Given the description of an element on the screen output the (x, y) to click on. 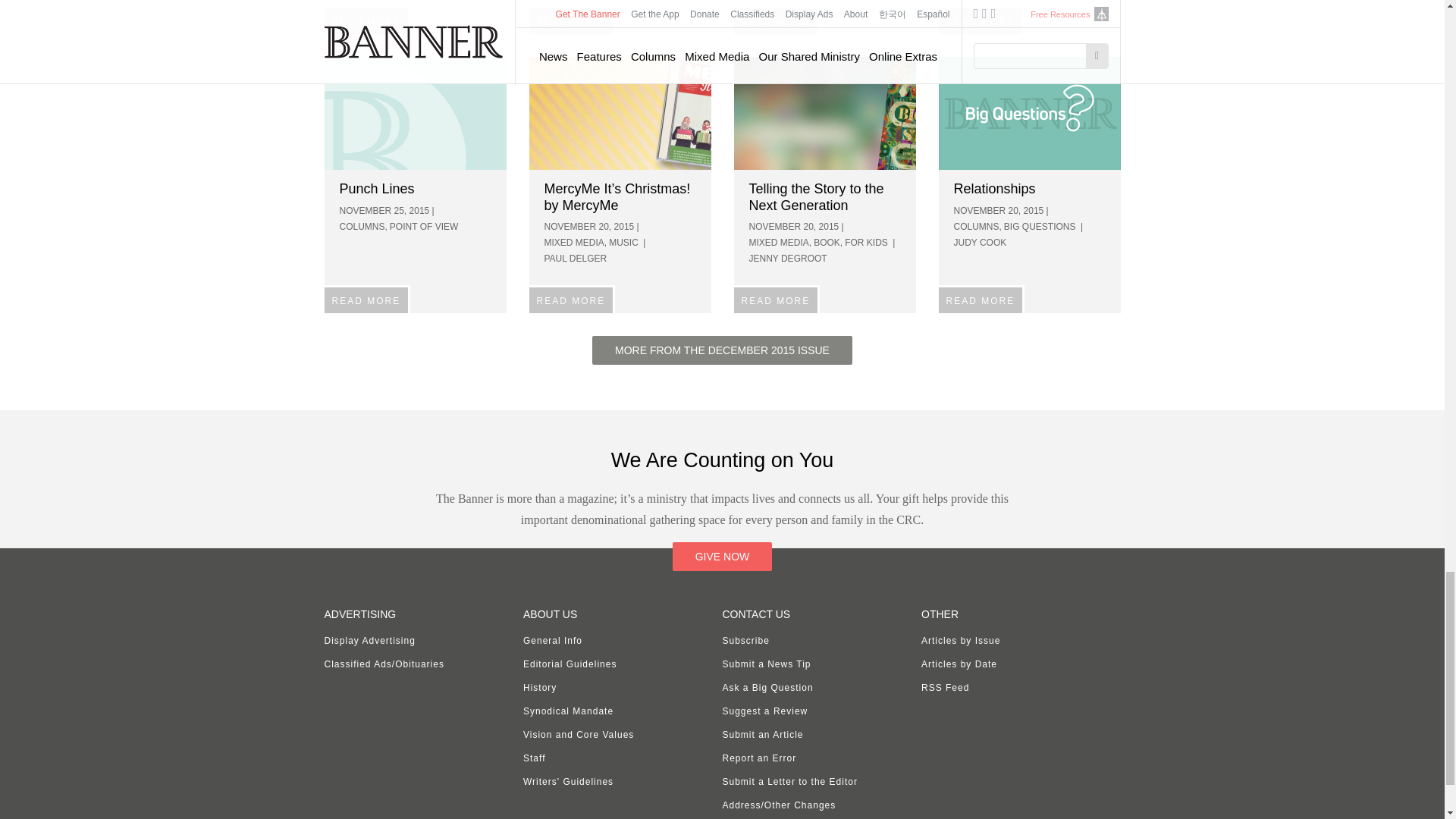
Point of View (415, 112)
